Given the description of an element on the screen output the (x, y) to click on. 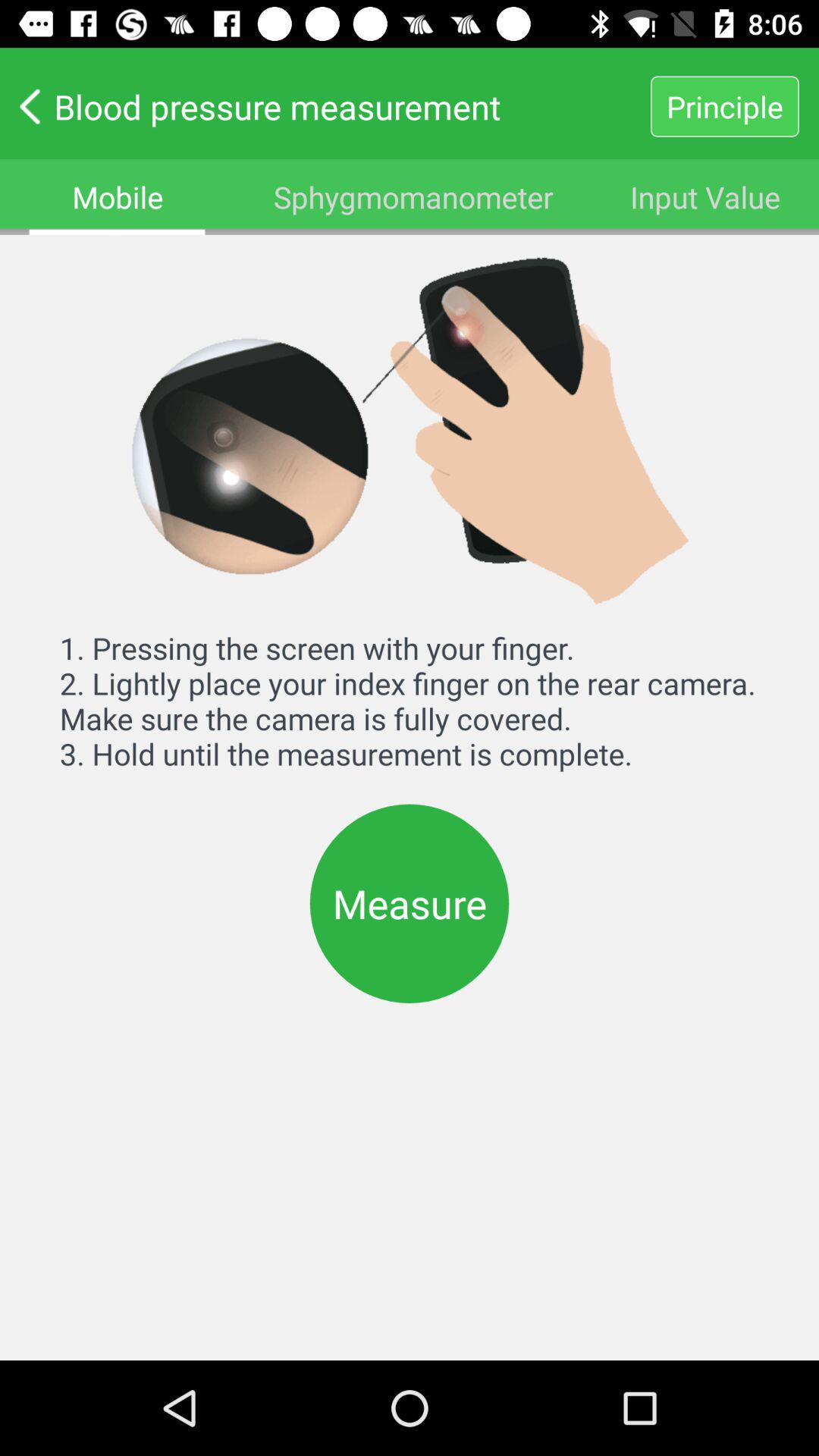
turn off the item next to input value icon (413, 196)
